Given the description of an element on the screen output the (x, y) to click on. 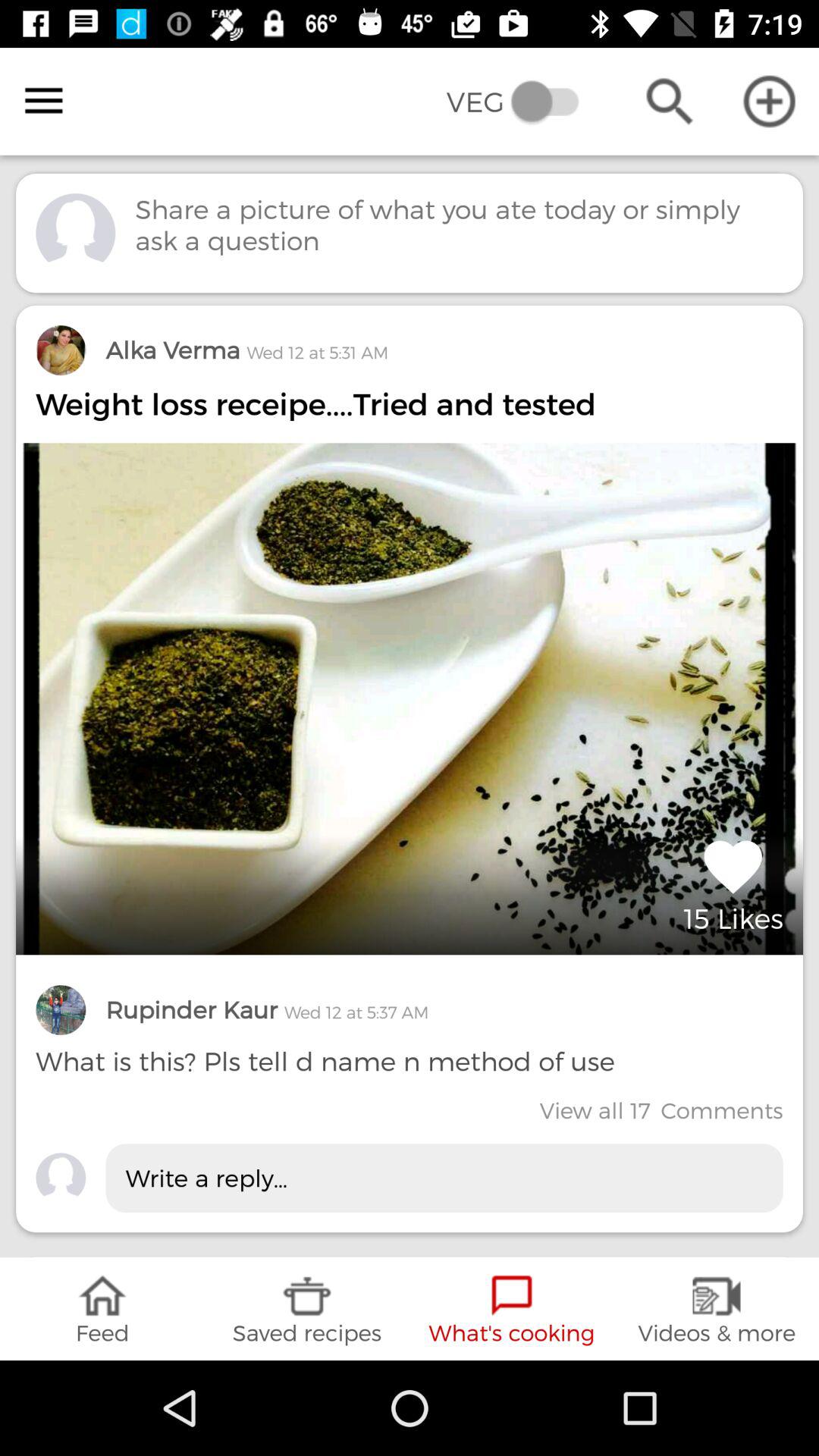
flip to 15 likes item (733, 883)
